Given the description of an element on the screen output the (x, y) to click on. 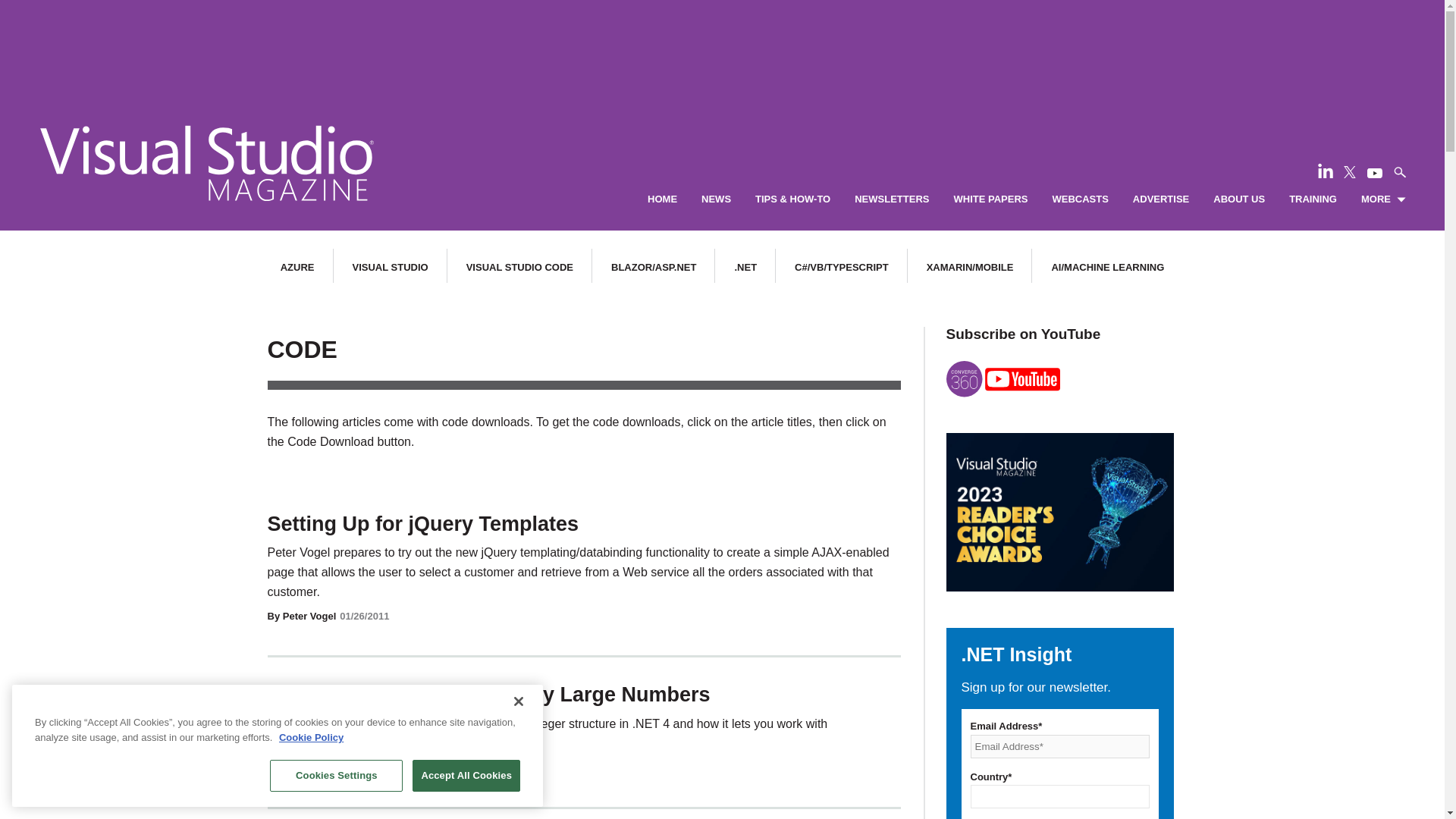
.NET (745, 266)
ADVERTISE (1160, 199)
AZURE (297, 266)
NEWS (715, 199)
VISUAL STUDIO (390, 266)
TRAINING (1312, 199)
VISUAL STUDIO CODE (519, 266)
WHITE PAPERS (990, 199)
NEWSLETTERS (891, 199)
3rd party ad content (721, 45)
HOME (662, 199)
WEBCASTS (1079, 199)
ABOUT US (1238, 199)
MORE (1383, 199)
